Given the description of an element on the screen output the (x, y) to click on. 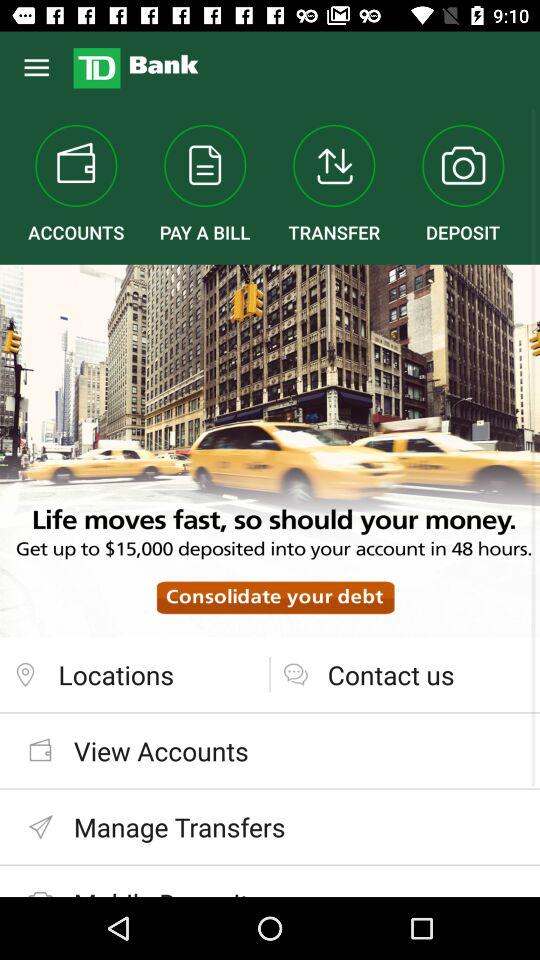
click transfer item (333, 184)
